Given the description of an element on the screen output the (x, y) to click on. 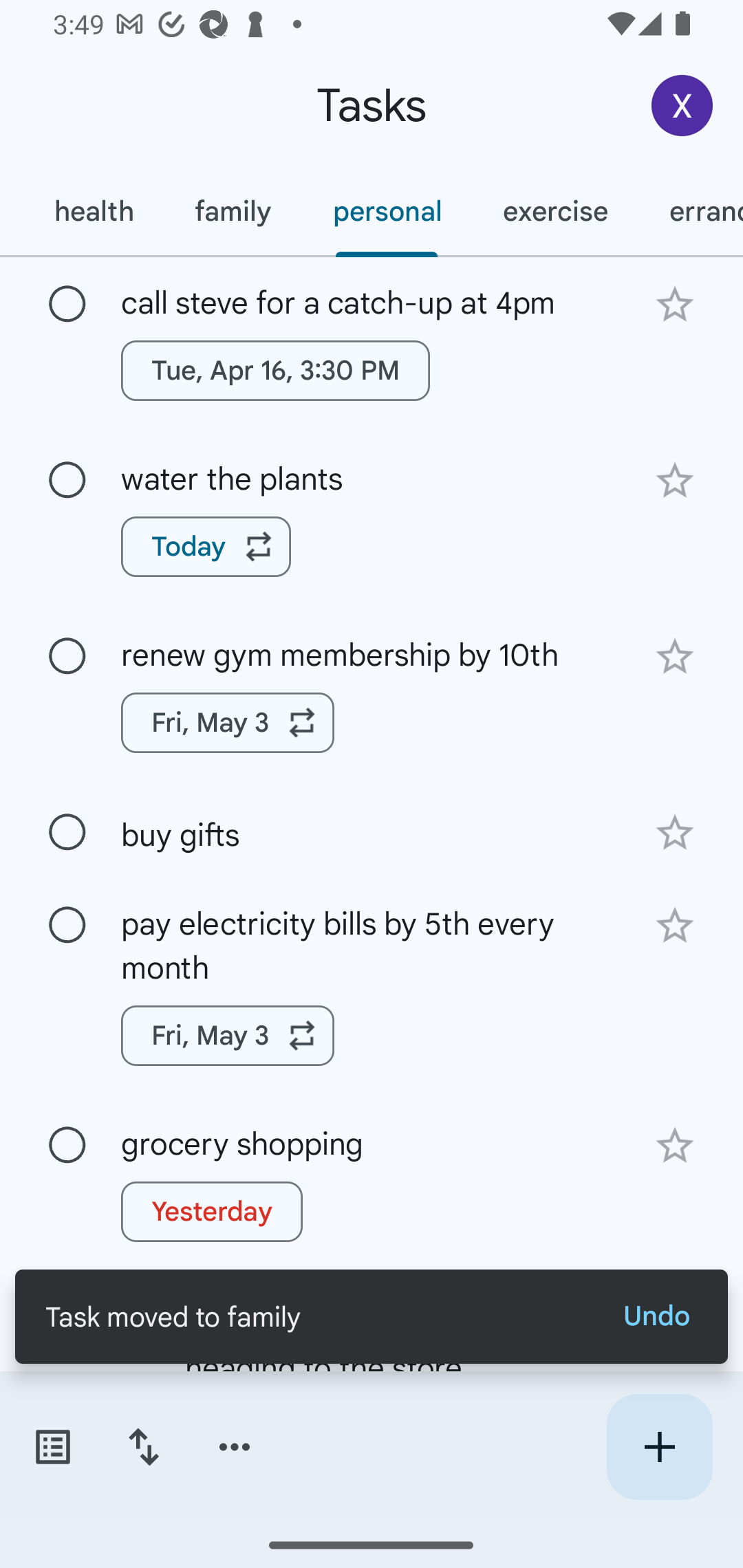
health (93, 211)
family (232, 211)
exercise (554, 211)
errands (690, 211)
Add star (674, 303)
Mark as complete (67, 304)
Tue, Apr 16, 3:30 PM (275, 369)
Add star (674, 480)
Mark as complete (67, 480)
Today (206, 546)
Add star (674, 656)
Mark as complete (67, 655)
Fri, May 3 (227, 722)
buy gifts buy gifts Add star Mark as complete (371, 831)
Add star (674, 832)
Mark as complete (67, 833)
Add star (674, 924)
Mark as complete (67, 925)
Fri, May 3 (227, 1035)
Add star (674, 1145)
Mark as complete (67, 1145)
Yesterday (211, 1211)
Undo (656, 1316)
Switch task lists (52, 1447)
Create new task (659, 1446)
Change sort order (143, 1446)
More options (234, 1446)
